Given the description of an element on the screen output the (x, y) to click on. 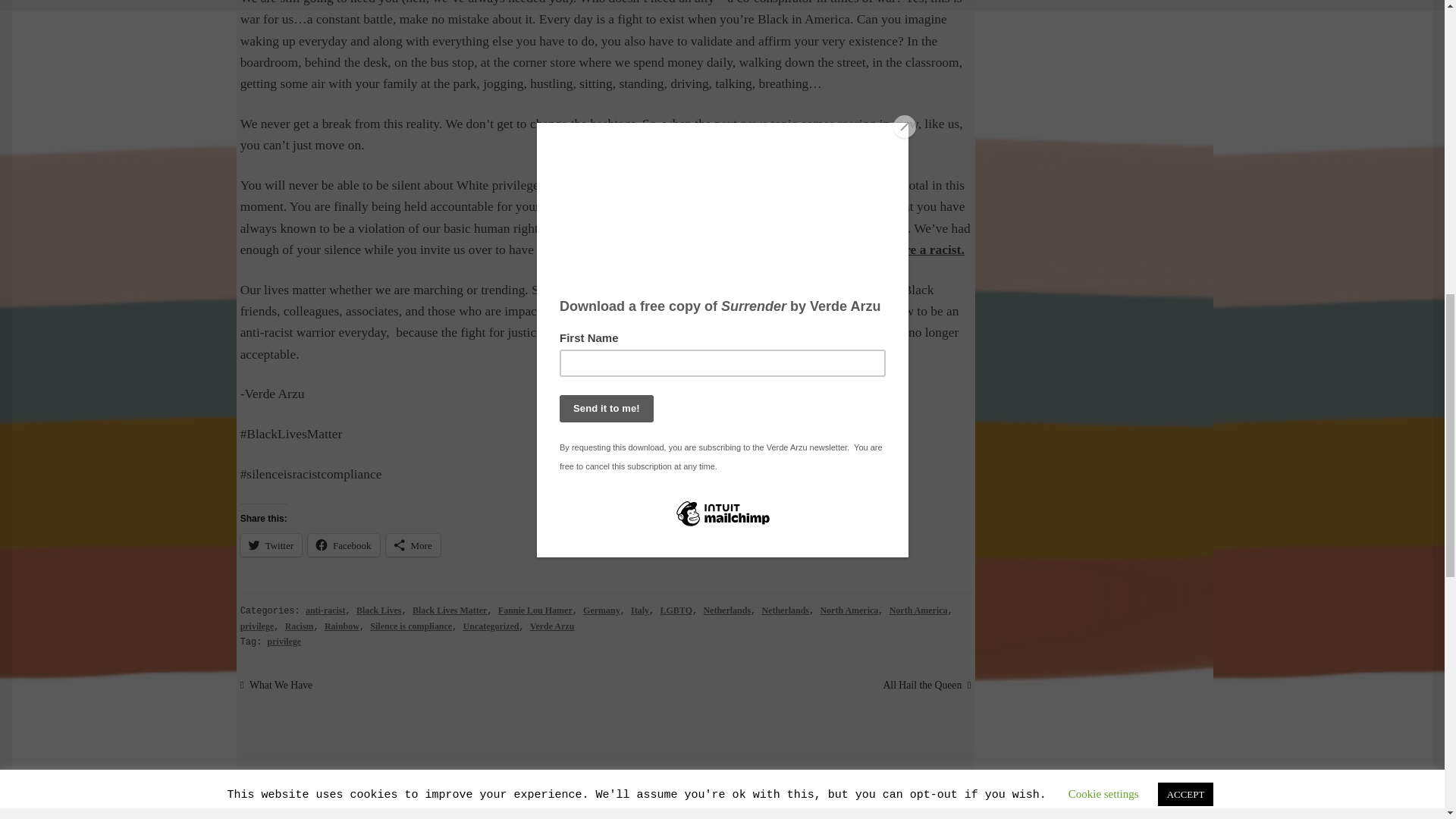
Click to share on Facebook (343, 544)
Click to share on Twitter (270, 544)
